Given the description of an element on the screen output the (x, y) to click on. 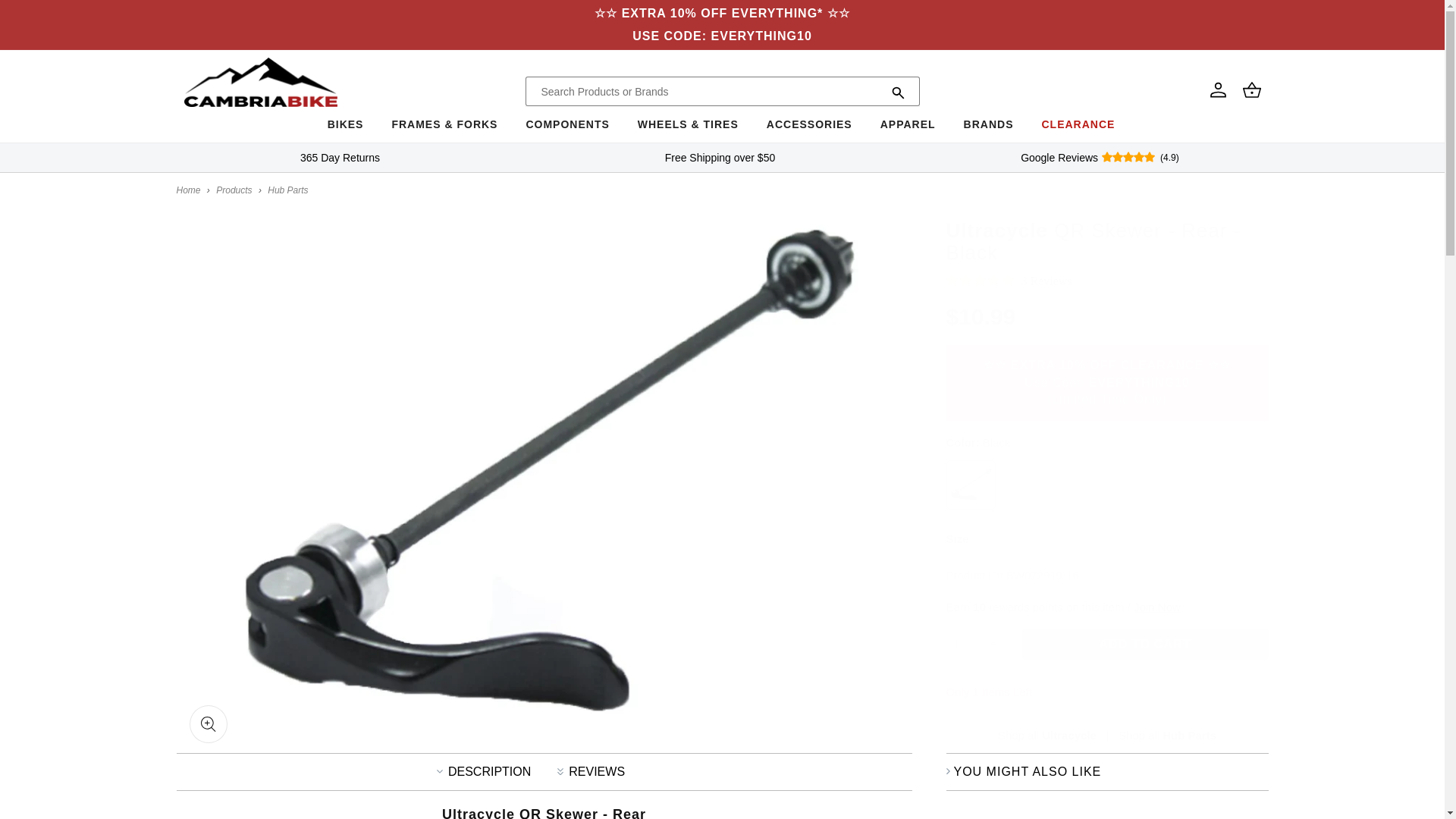
Products (233, 190)
Hub Parts (287, 190)
Hub Parts (1166, 735)
Skip to content (45, 17)
3 Reviews (1008, 281)
Cambria Bike (188, 190)
Black (970, 484)
